Given the description of an element on the screen output the (x, y) to click on. 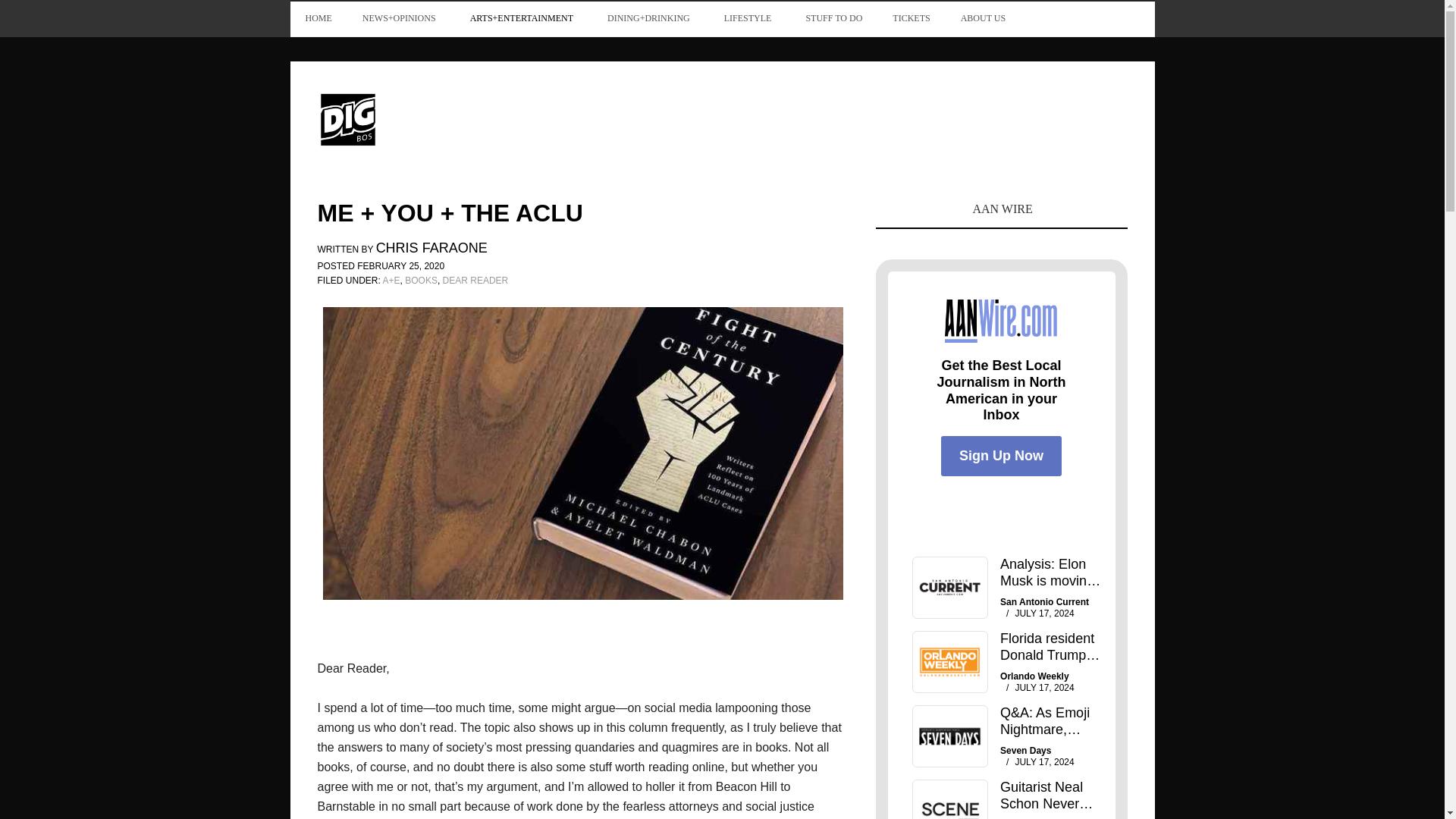
CHRIS FARAONE (431, 249)
HOME (317, 18)
DIG BOS (419, 118)
DEAR READER (475, 280)
LIFESTYLE (749, 18)
TICKETS (910, 18)
BOOKS (421, 280)
STUFF TO DO (833, 18)
